Given the description of an element on the screen output the (x, y) to click on. 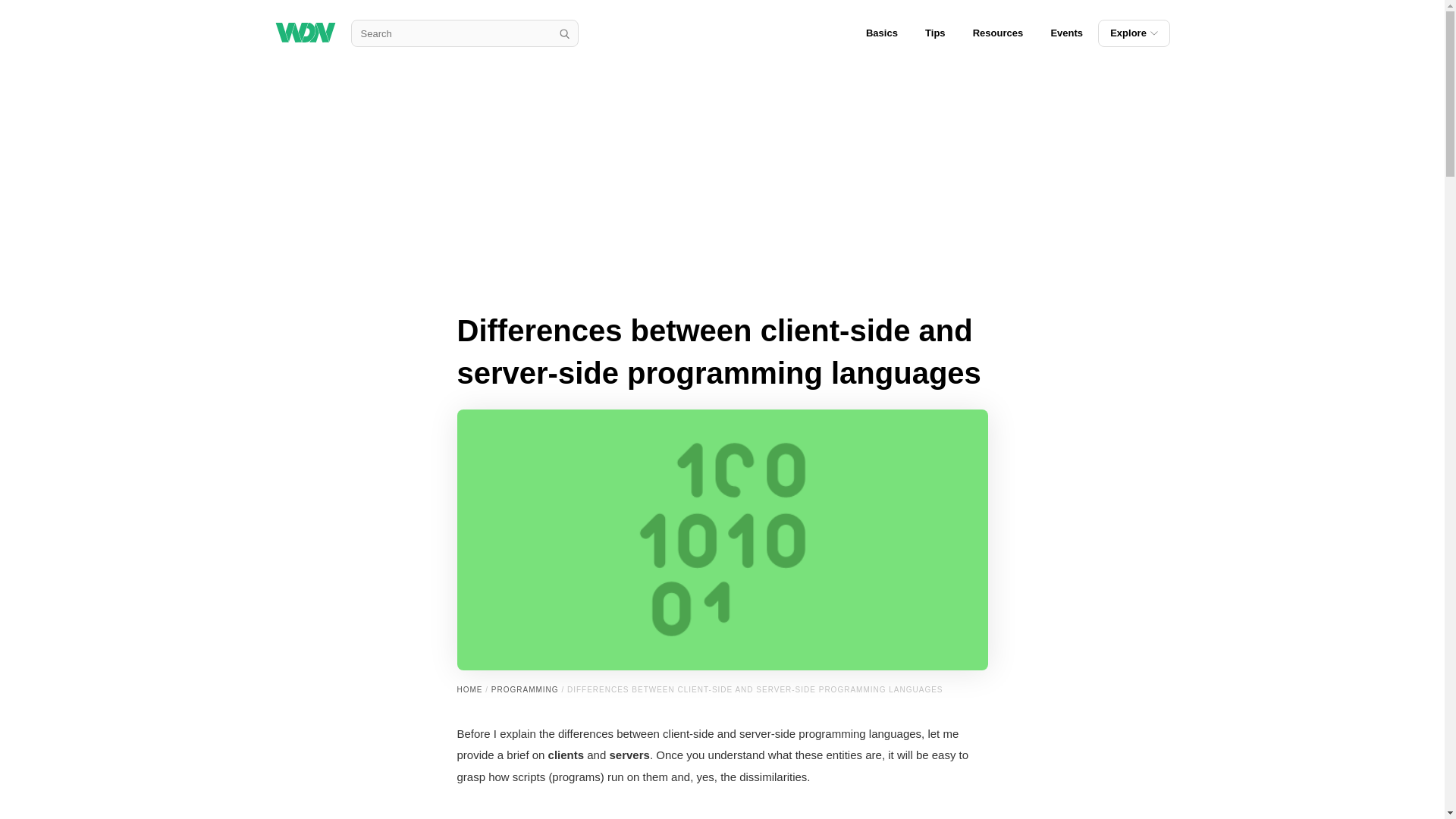
Resources (997, 32)
Basics (881, 32)
Tips (935, 32)
Web Developers Notes (304, 32)
PROGRAMMING (525, 689)
Events (1066, 32)
HOME (469, 689)
